Given the description of an element on the screen output the (x, y) to click on. 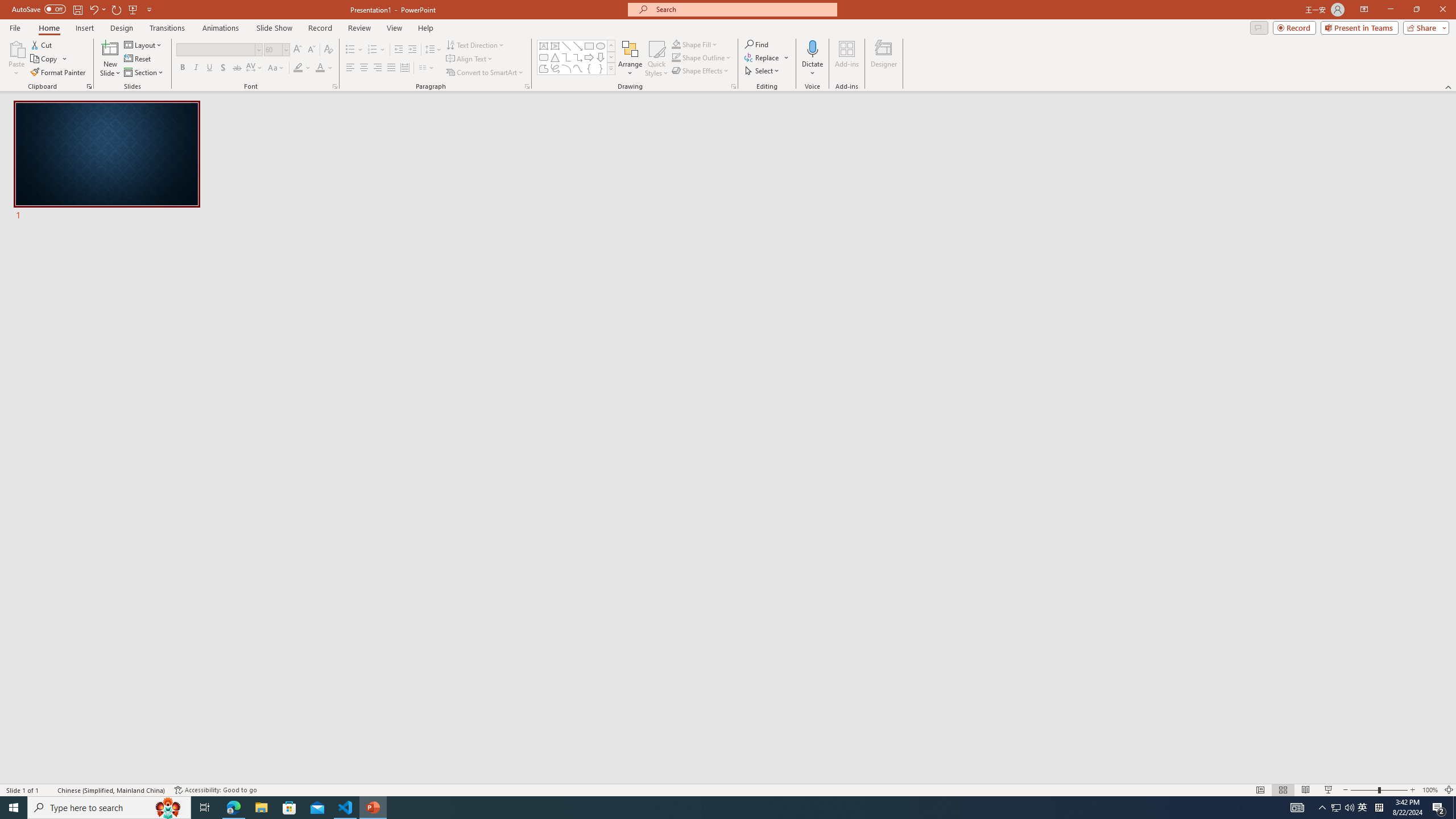
Accessibility Checker Accessibility: Good to go (216, 790)
